Given the description of an element on the screen output the (x, y) to click on. 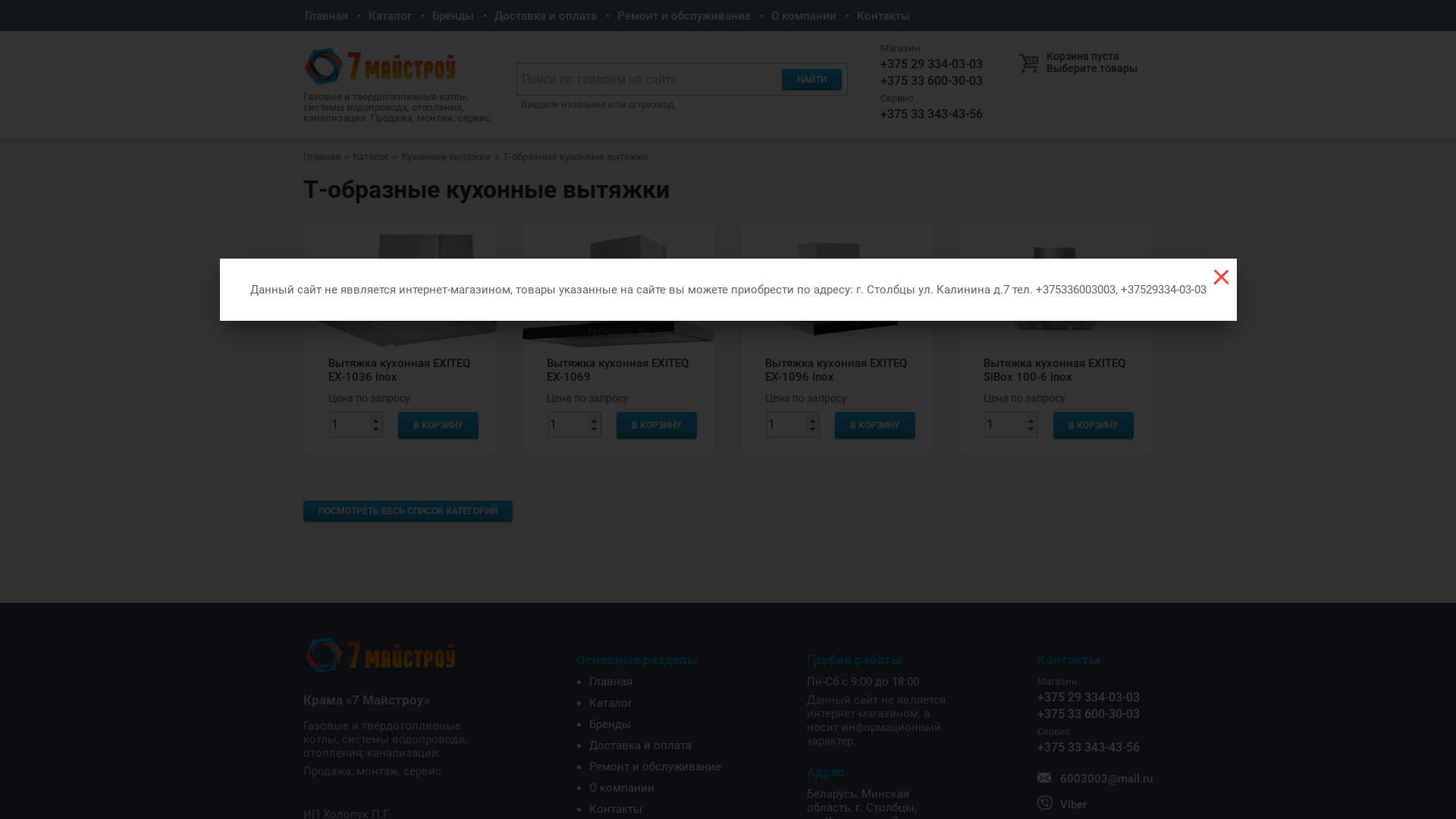
+375 29 334-03-03 Element type: text (919, 56)
1 Element type: text (1011, 423)
6003003@mail.ru Element type: text (1094, 778)
1 Element type: text (792, 423)
1 Element type: text (355, 423)
+375 33 600-30-03 Element type: text (1094, 714)
+375 33 343-43-56 Element type: text (1094, 739)
+375 33 600-30-03 Element type: text (919, 80)
+375 33 343-43-56 Element type: text (919, 106)
1 Element type: text (574, 423)
+375 29 334-03-03 Element type: text (1094, 689)
Viber Element type: text (1094, 804)
